Given the description of an element on the screen output the (x, y) to click on. 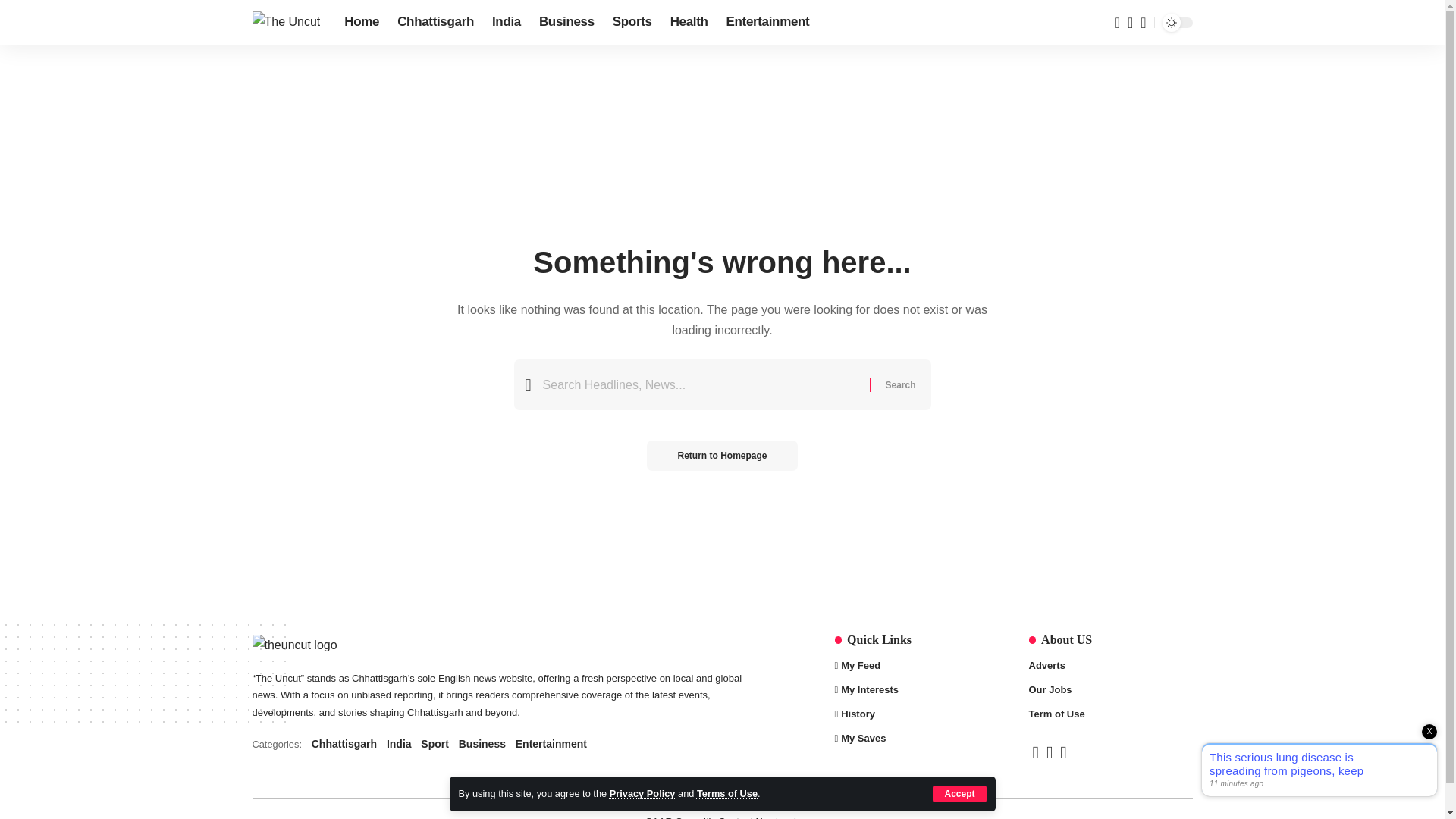
Return to Homepage (721, 455)
Sports (632, 22)
Search (899, 384)
Search (899, 384)
Home (361, 22)
Health (689, 22)
Entertainment (767, 22)
Accept (959, 793)
Chhattisgarh (435, 22)
India (506, 22)
Business (498, 744)
Terms of Use (566, 22)
Privacy Policy (727, 793)
The Uncut (642, 793)
